Given the description of an element on the screen output the (x, y) to click on. 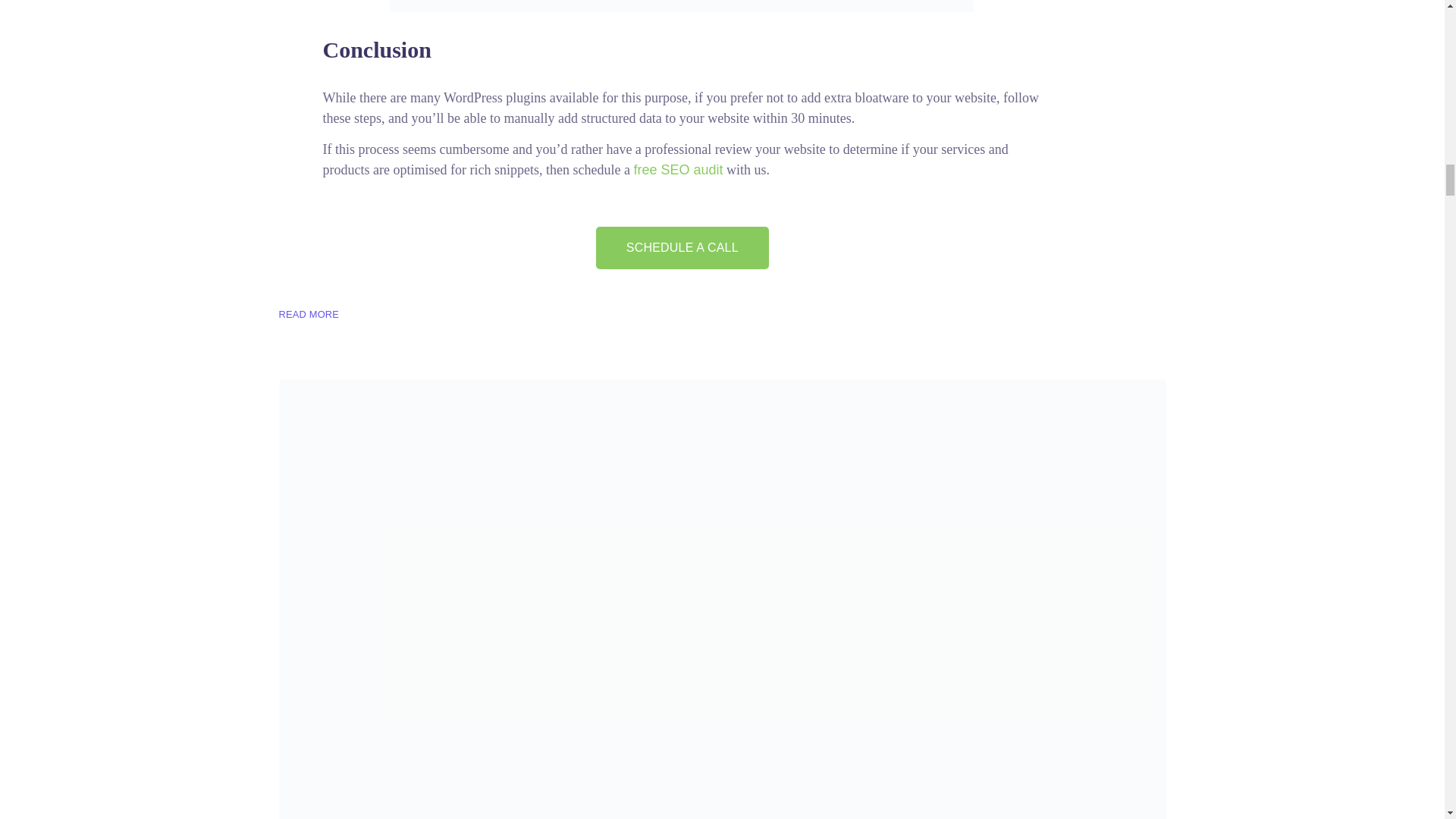
free SEO audit (677, 169)
Rich Results Test (682, 6)
READ MORE (309, 314)
SCHEDULE A CALL (681, 247)
